Given the description of an element on the screen output the (x, y) to click on. 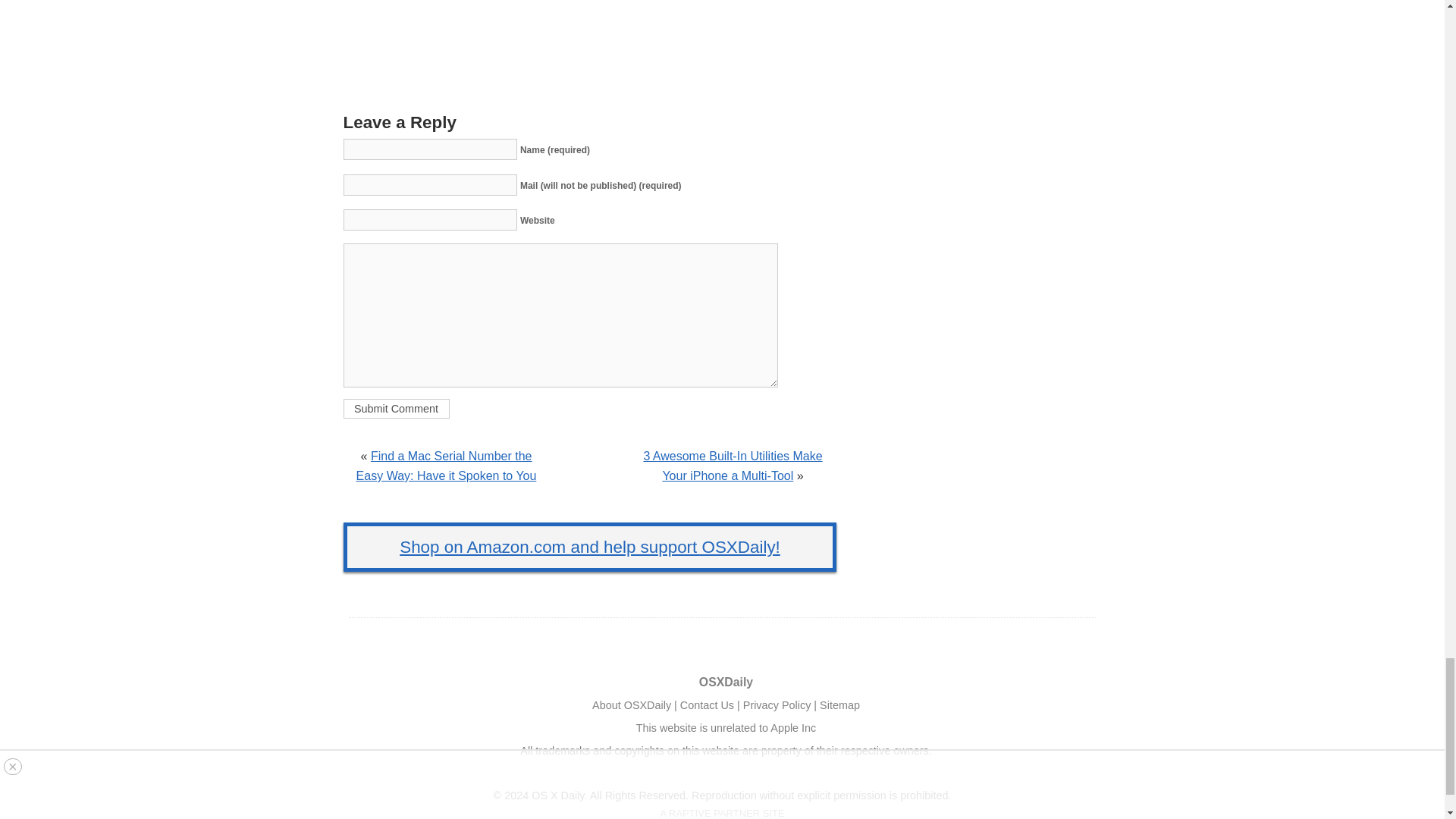
Submit Comment (395, 408)
